Given the description of an element on the screen output the (x, y) to click on. 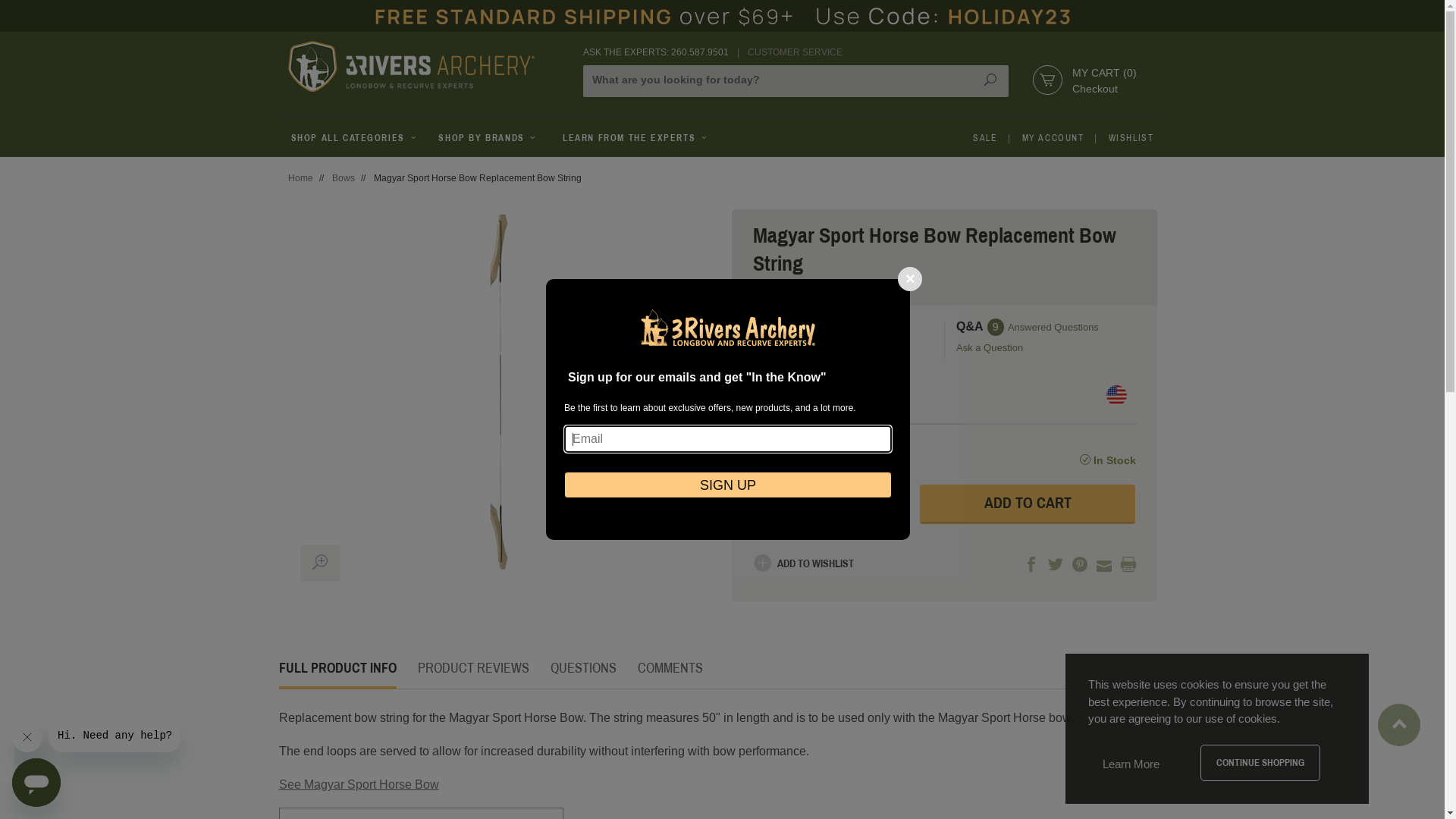
Bows Element type: text (343, 177)
Share on Facebook Element type: hover (1030, 565)
QUESTIONS Element type: text (583, 668)
LEARN FROM THE EXPERTS Element type: text (635, 138)
Share on Twitter Element type: hover (1055, 565)
3Rivers Archery Supply Element type: hover (426, 65)
SHOP ALL CATEGORIES Element type: text (352, 138)
Write a Review Element type: text (840, 352)
Button to launch messaging window Element type: hover (36, 782)
Back to Top Element type: hover (1399, 717)
Add to Cart Element type: text (1027, 504)
MY CART (0) Element type: text (1104, 72)
Free Shipping on orders of $69+ click for details Element type: hover (721, 15)
SHOP BY BRANDS Element type: text (488, 138)
Answered Questions Element type: text (1052, 326)
COMMENTS Element type: text (669, 668)
Message from company Element type: hover (114, 735)
CONTINUE SHOPPING Element type: text (1260, 762)
SALE Element type: text (984, 138)
WISHLIST Element type: text (1131, 138)
3 Reviews Element type: text (776, 352)
Ask a Question Element type: text (1044, 347)
Email to a Friend Element type: hover (1103, 565)
PRODUCT REVIEWS Element type: text (472, 668)
Close message Element type: hover (27, 736)
Learn More Element type: text (1130, 763)
Made in the US Element type: hover (1115, 395)
Share on Pinterest Element type: hover (1079, 565)
CUSTOMER SERVICE Element type: text (794, 52)
Back to Top Element type: hover (1398, 724)
3Rivers Archery Supply Element type: hover (411, 65)
FULL PRODUCT INFO Element type: text (337, 668)
Checkout Element type: text (1094, 88)
Print This Page Element type: hover (1127, 565)
See Magyar Sport Horse Bow Element type: text (359, 784)
Magyar Sport Horse Bow Replacement Bow String Element type: hover (500, 391)
MY ACCOUNT Element type: text (1053, 138)
Home Element type: text (300, 177)
Shopping Cart Element type: hover (1047, 79)
